Given the description of an element on the screen output the (x, y) to click on. 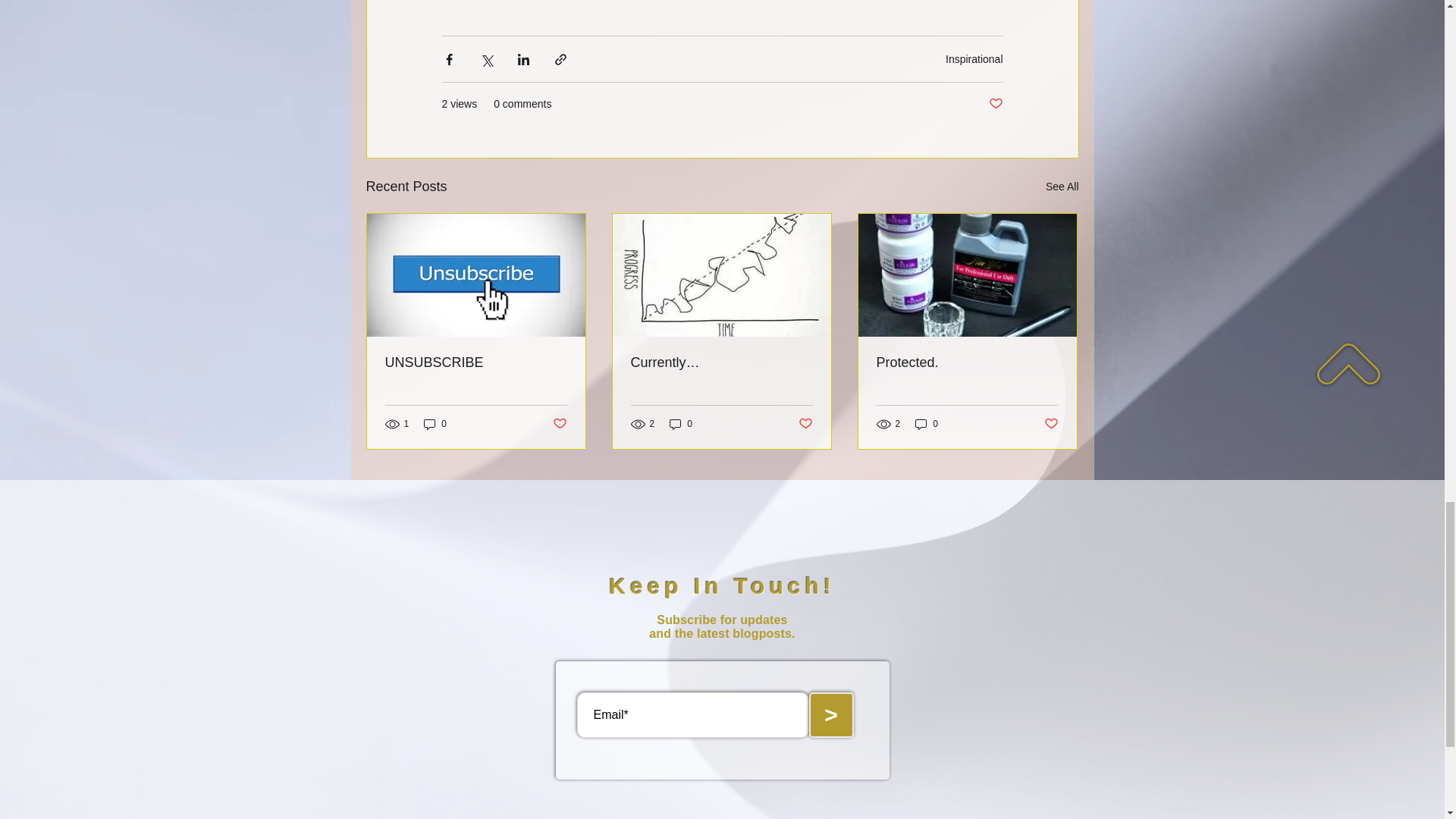
Post not marked as liked (995, 104)
Inspirational (973, 59)
Post not marked as liked (1050, 423)
UNSUBSCRIBE (476, 362)
0 (435, 423)
See All (1061, 187)
0 (926, 423)
Post not marked as liked (558, 423)
Protected. (967, 362)
0 (681, 423)
Post not marked as liked (804, 423)
